Given the description of an element on the screen output the (x, y) to click on. 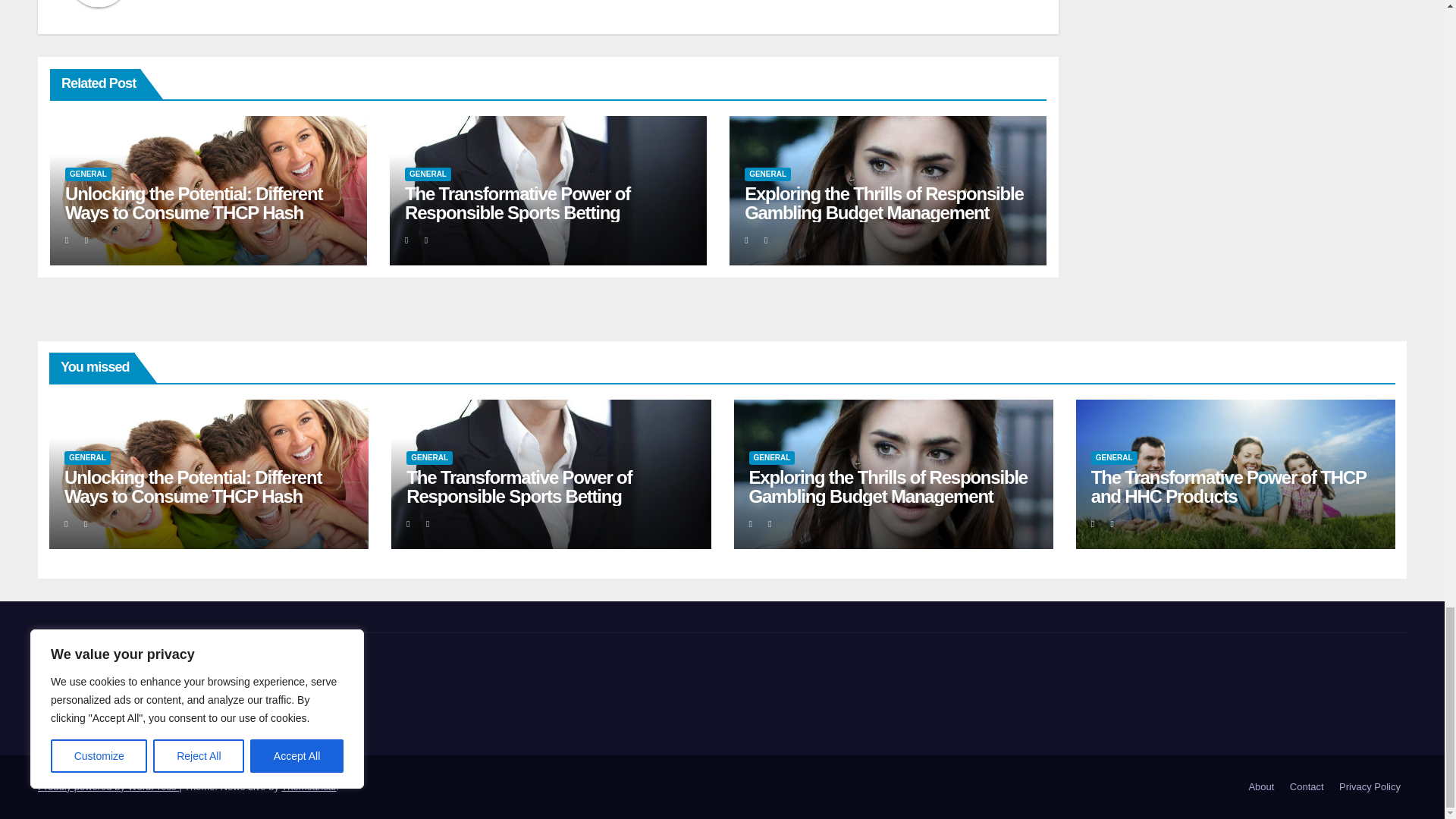
About (1260, 786)
Privacy Policy (1369, 786)
Contact (1307, 786)
